Given the description of an element on the screen output the (x, y) to click on. 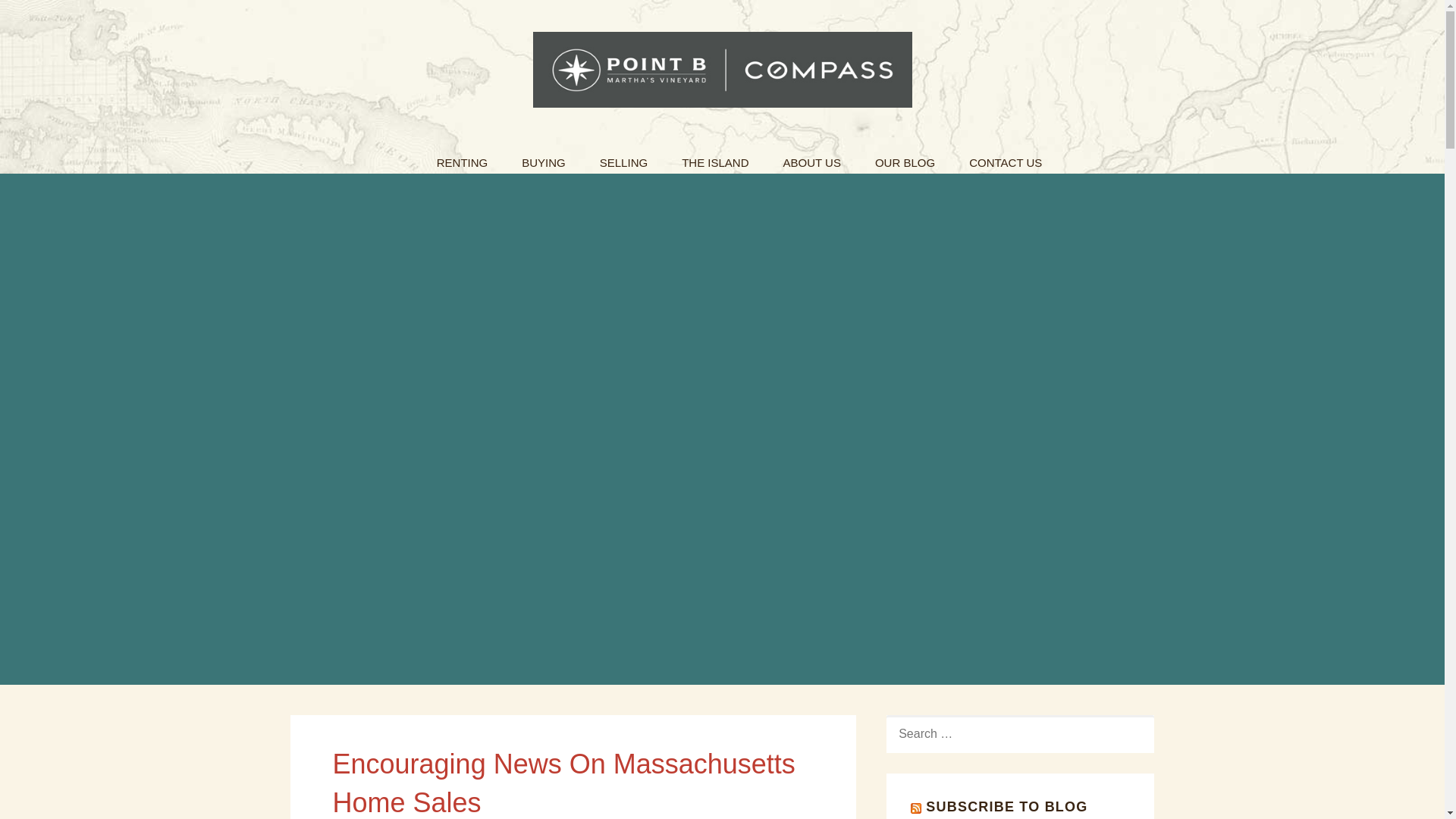
OUR BLOG (905, 157)
RENTING (462, 157)
THE ISLAND (714, 157)
CONTACT US (1005, 157)
Encouraging News On Massachusetts Home Sales (562, 782)
ABOUT US (812, 157)
SELLING (623, 157)
BUYING (543, 157)
